Given the description of an element on the screen output the (x, y) to click on. 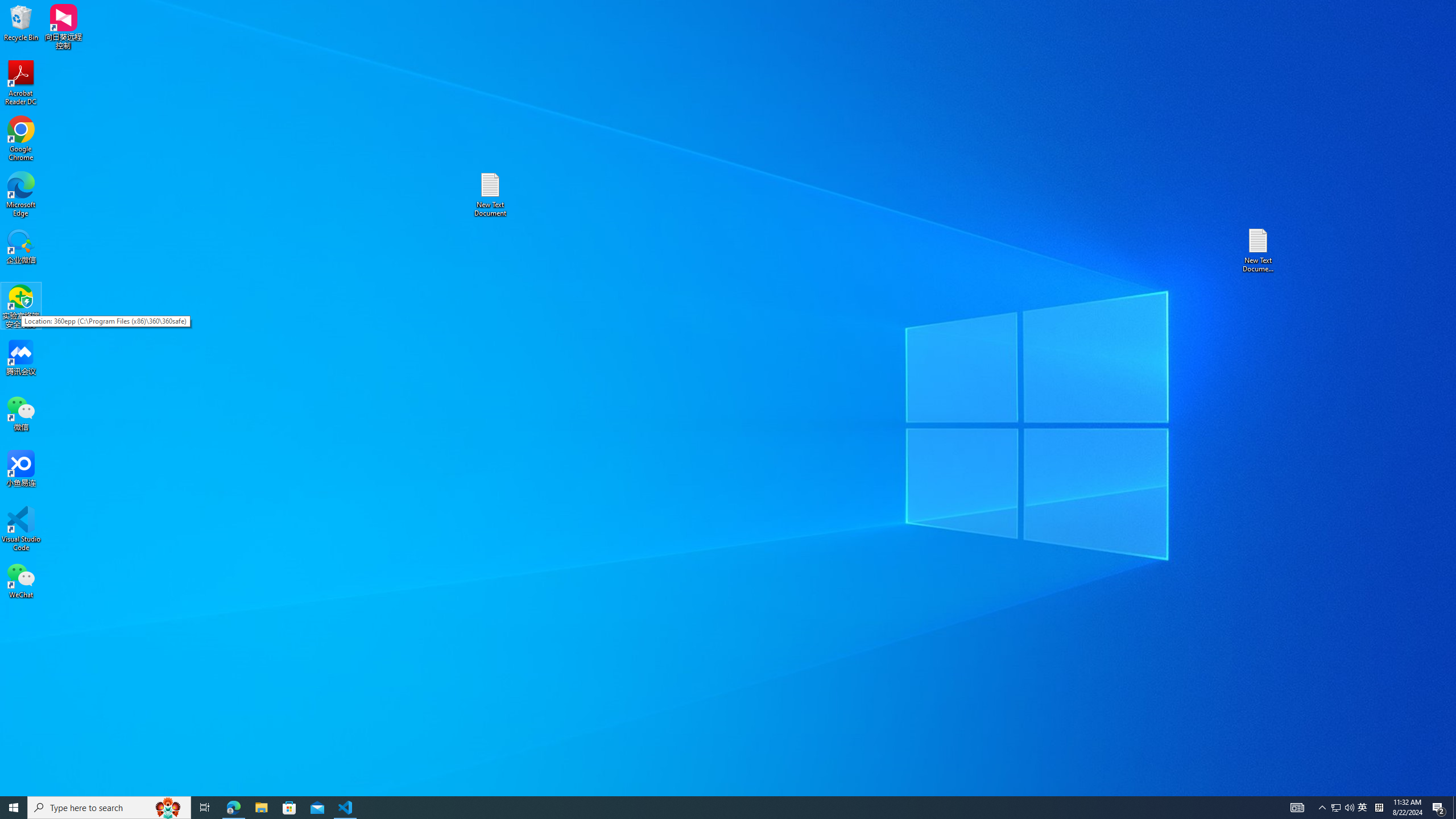
Search highlights icon opens search home window (1362, 807)
Q2790: 100% (167, 807)
Acrobat Reader DC (1349, 807)
Visual Studio Code (21, 82)
Start (1335, 807)
Action Center, 2 new notifications (21, 528)
Microsoft Edge (13, 807)
Microsoft Edge - 1 running window (1439, 807)
Task View (21, 194)
